Given the description of an element on the screen output the (x, y) to click on. 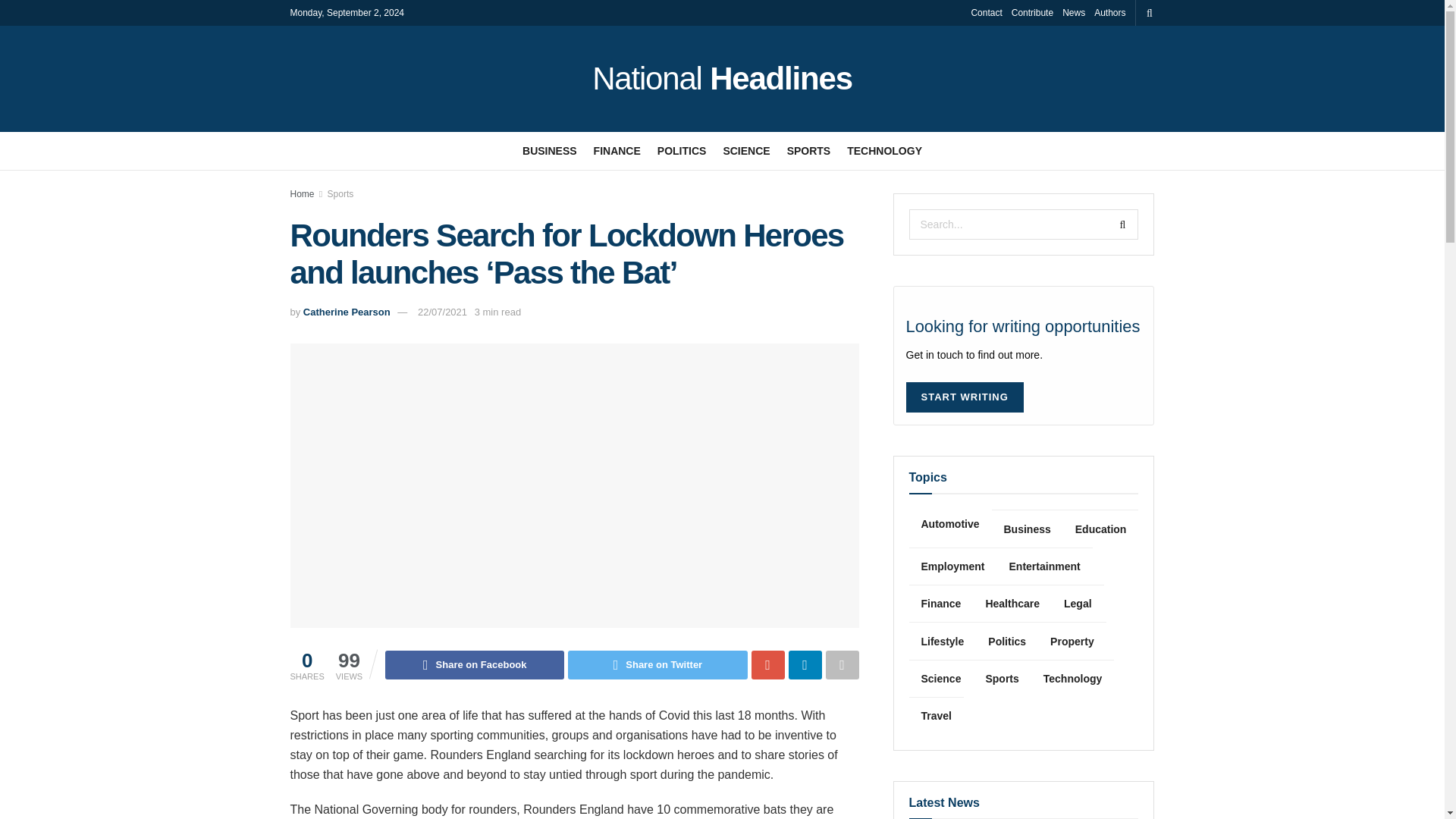
Contact (986, 12)
Share on Twitter (656, 664)
Share on Facebook (474, 664)
Sports (340, 194)
FINANCE (617, 150)
National Headlines (721, 79)
POLITICS (682, 150)
SCIENCE (746, 150)
Catherine Pearson (346, 311)
TECHNOLOGY (884, 150)
